Given the description of an element on the screen output the (x, y) to click on. 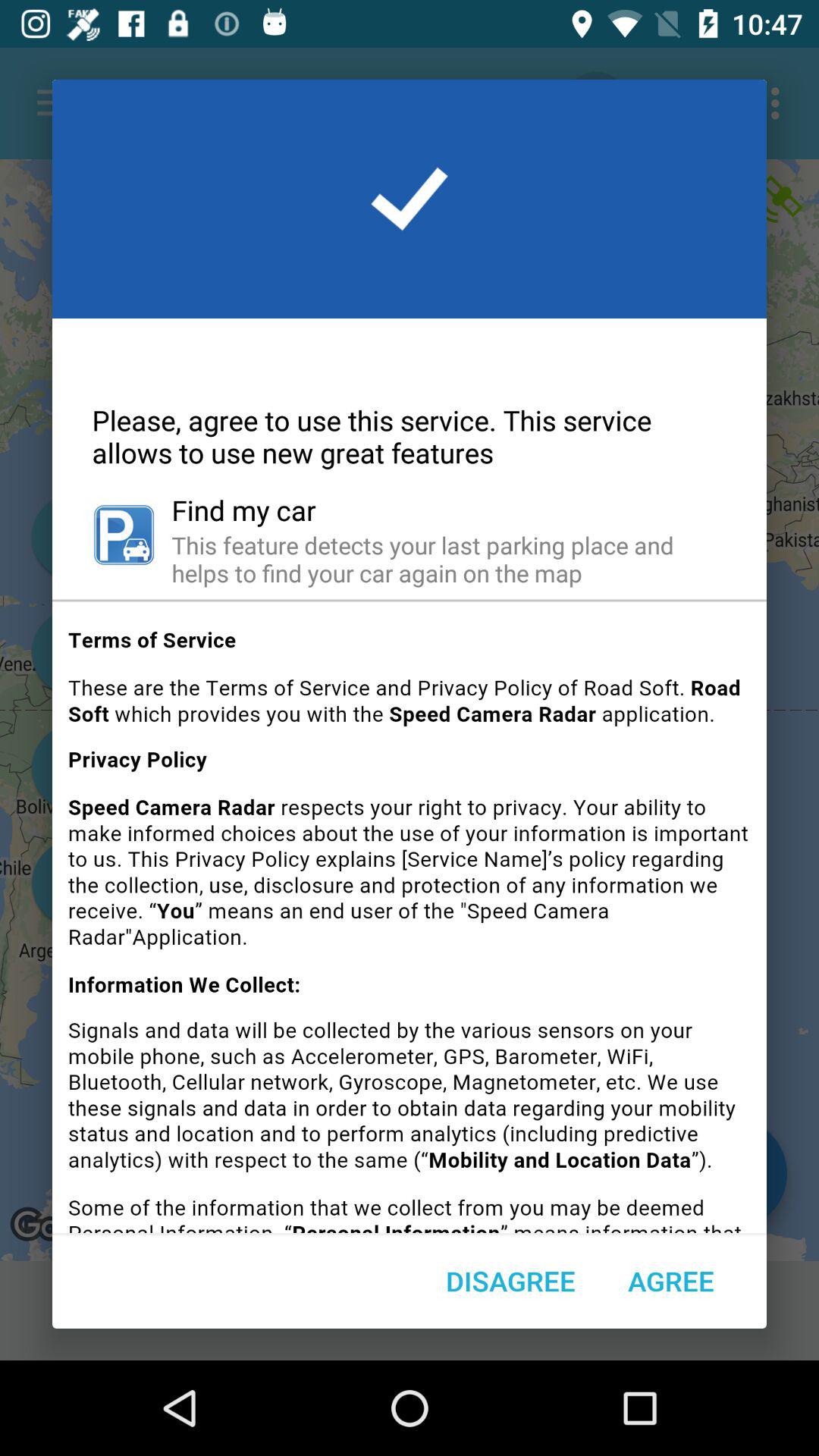
scroll down (409, 922)
